Given the description of an element on the screen output the (x, y) to click on. 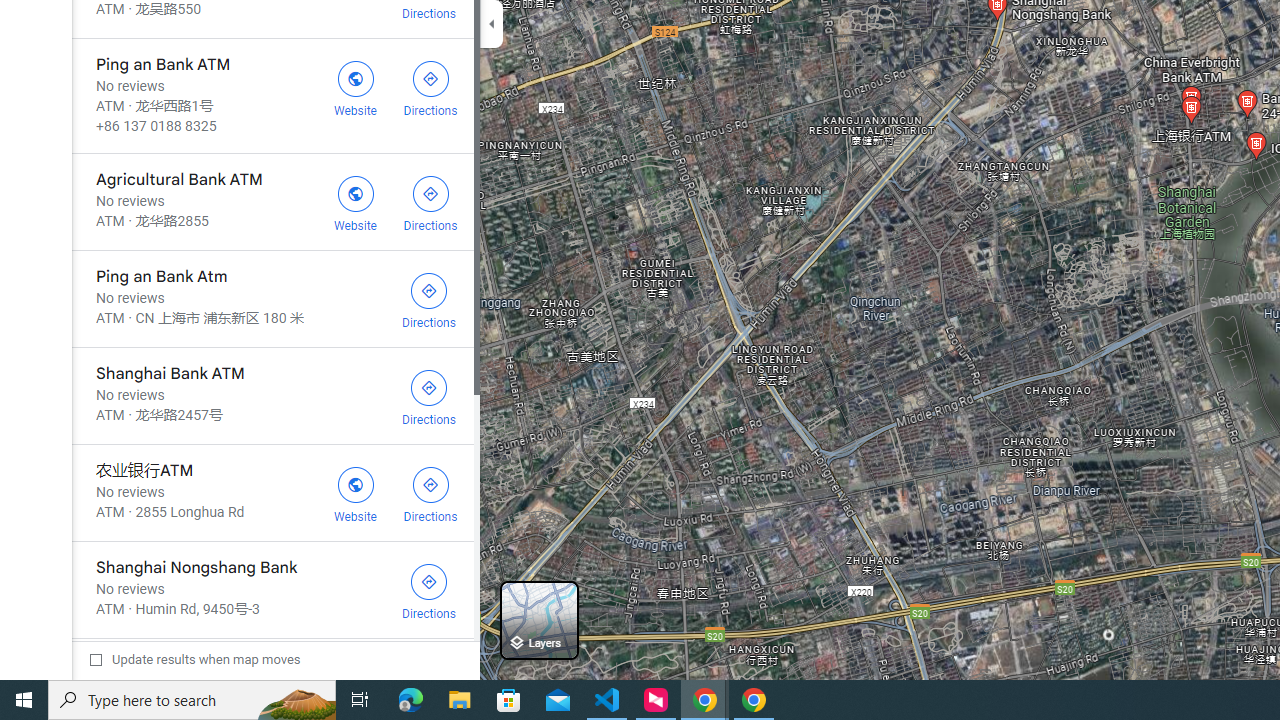
Get directions to Shanghai Bank ATM (429, 395)
Update results when map moves (194, 659)
Ping an Bank ATM (272, 95)
Visit Agricultural Bank ATM's website (354, 201)
Get directions to Ping an Bank Atm (429, 299)
Visit Ping an Bank ATM's website (354, 86)
Ping an Bank Atm (272, 299)
Get directions to Agricultural Bank ATM (430, 201)
Shanghai Bank ATM (272, 395)
Shanghai Nongshang Bank (272, 589)
Get directions to Shanghai Nongshang Bank (429, 590)
Agricultural Bank ATM (272, 201)
Get directions to Ping an Bank ATM (430, 86)
